Given the description of an element on the screen output the (x, y) to click on. 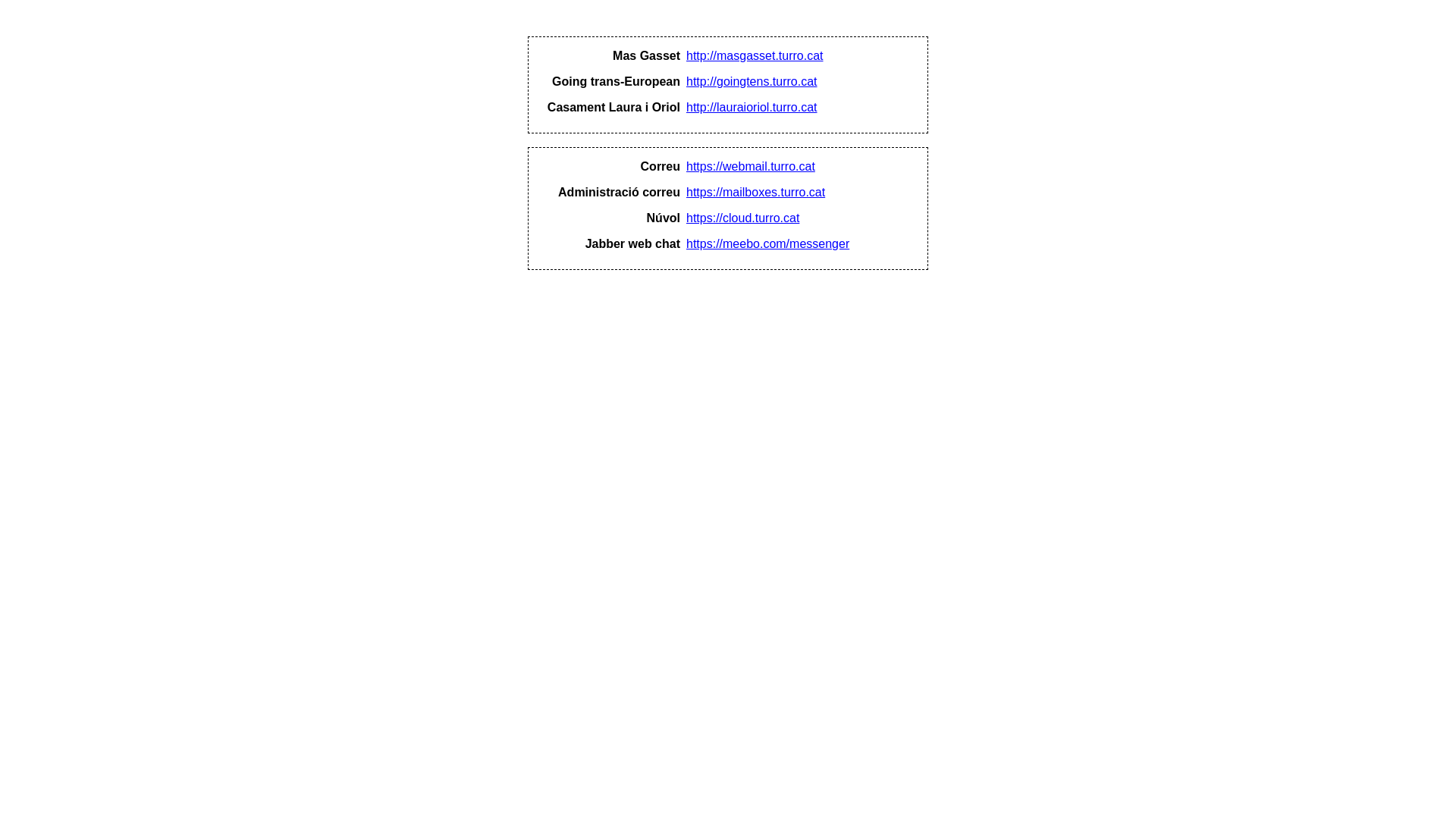
https://cloud.turro.cat Element type: text (742, 217)
https://mailboxes.turro.cat Element type: text (755, 191)
http://lauraioriol.turro.cat Element type: text (751, 106)
http://goingtens.turro.cat Element type: text (751, 81)
https://webmail.turro.cat Element type: text (750, 166)
http://masgasset.turro.cat Element type: text (754, 55)
https://meebo.com/messenger Element type: text (767, 243)
